Given the description of an element on the screen output the (x, y) to click on. 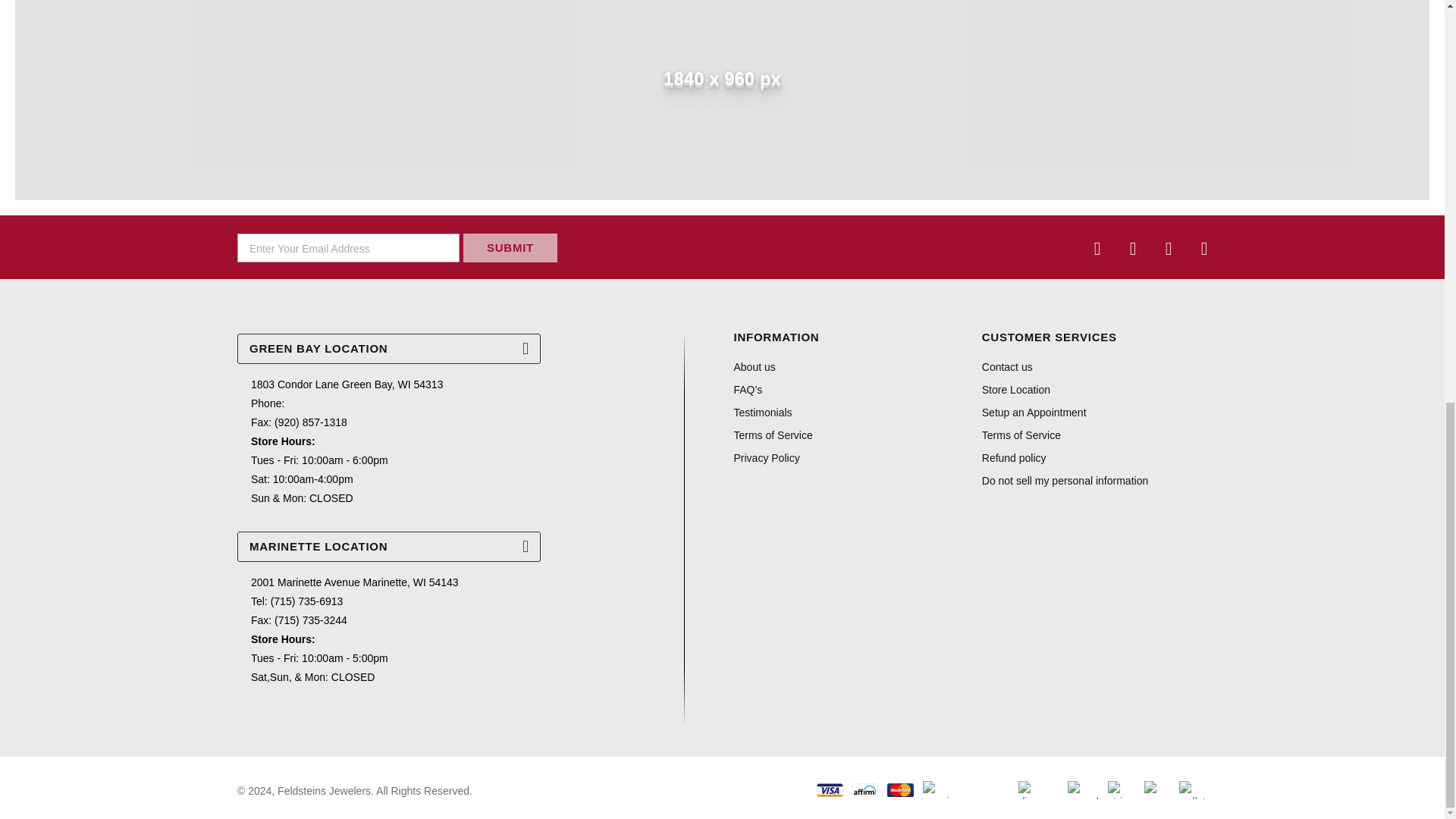
Submit (510, 247)
